Given the description of an element on the screen output the (x, y) to click on. 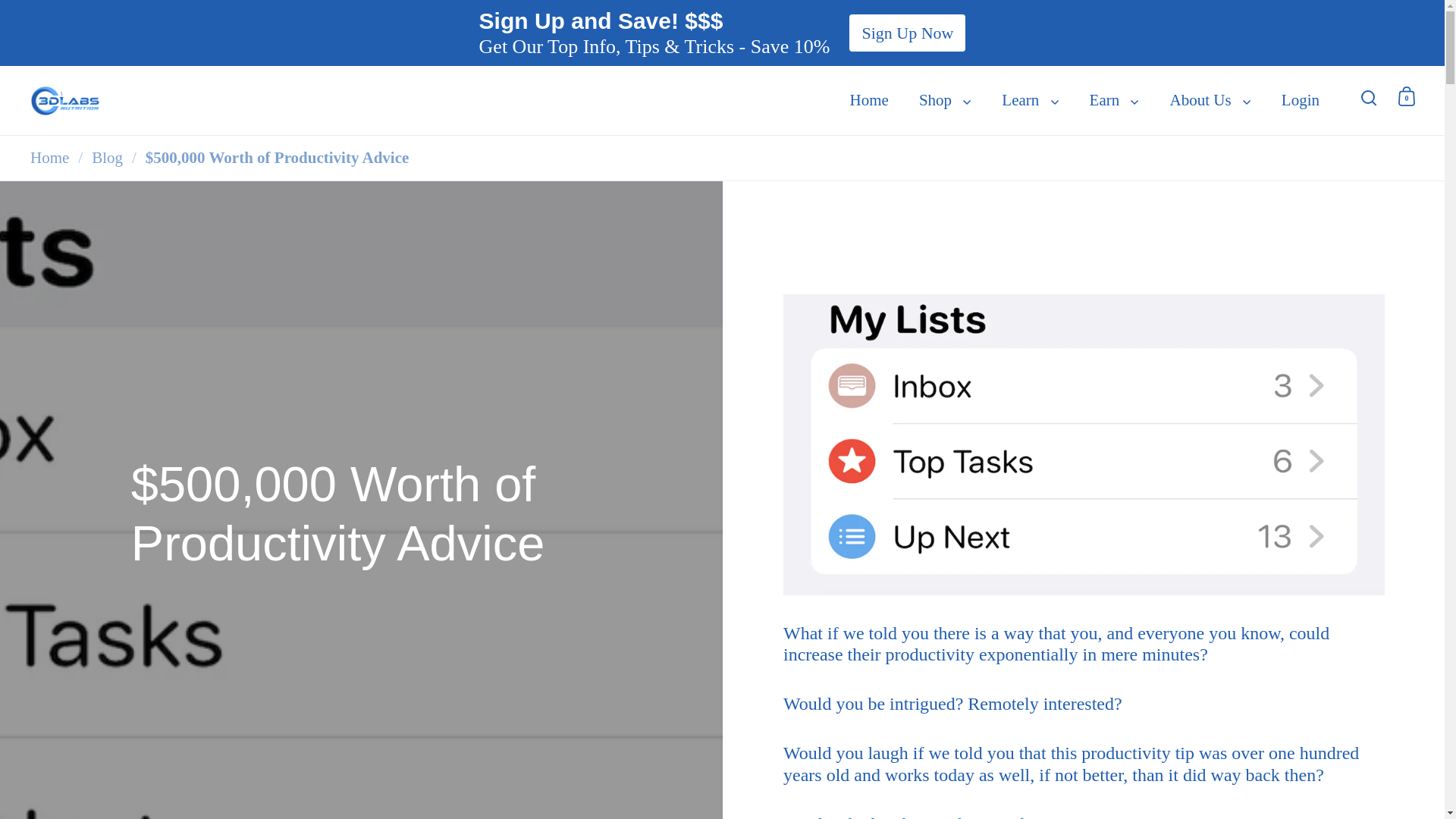
Open cart (1406, 96)
0 (1406, 96)
Sign Up Now (906, 32)
Login (1300, 100)
Learn (1030, 100)
Earn (1114, 100)
Open search (1369, 96)
Open cart (1406, 96)
Home (49, 157)
About Us (1209, 100)
Home (869, 100)
Blog (106, 157)
Shop (945, 100)
